Given the description of an element on the screen output the (x, y) to click on. 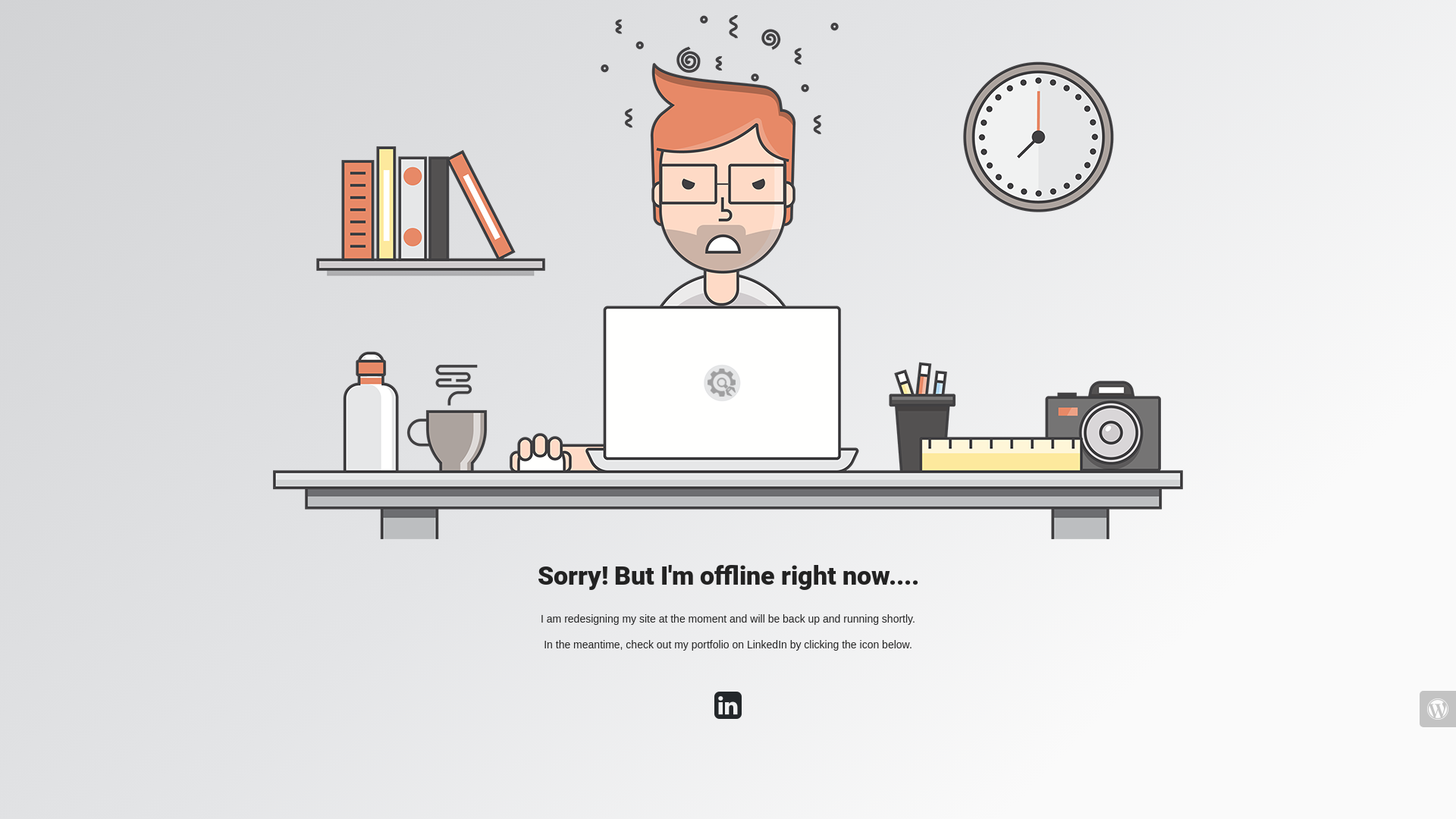
LinkedIn Element type: hover (727, 712)
Mad Designer at work Element type: hover (728, 277)
